Given the description of an element on the screen output the (x, y) to click on. 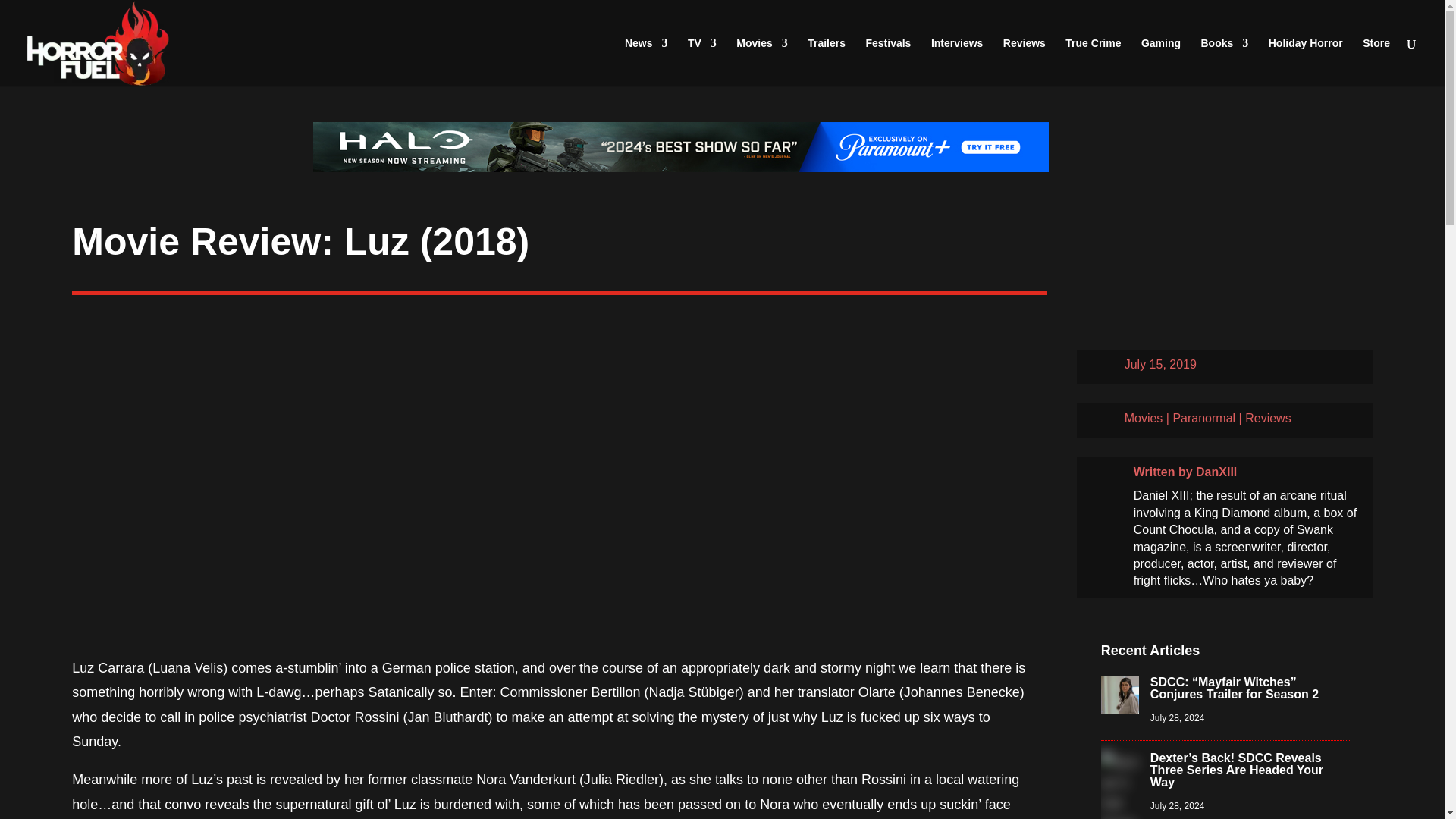
Trailers (826, 61)
TV (701, 61)
Movies (761, 61)
Festivals (887, 61)
News (646, 61)
